Given the description of an element on the screen output the (x, y) to click on. 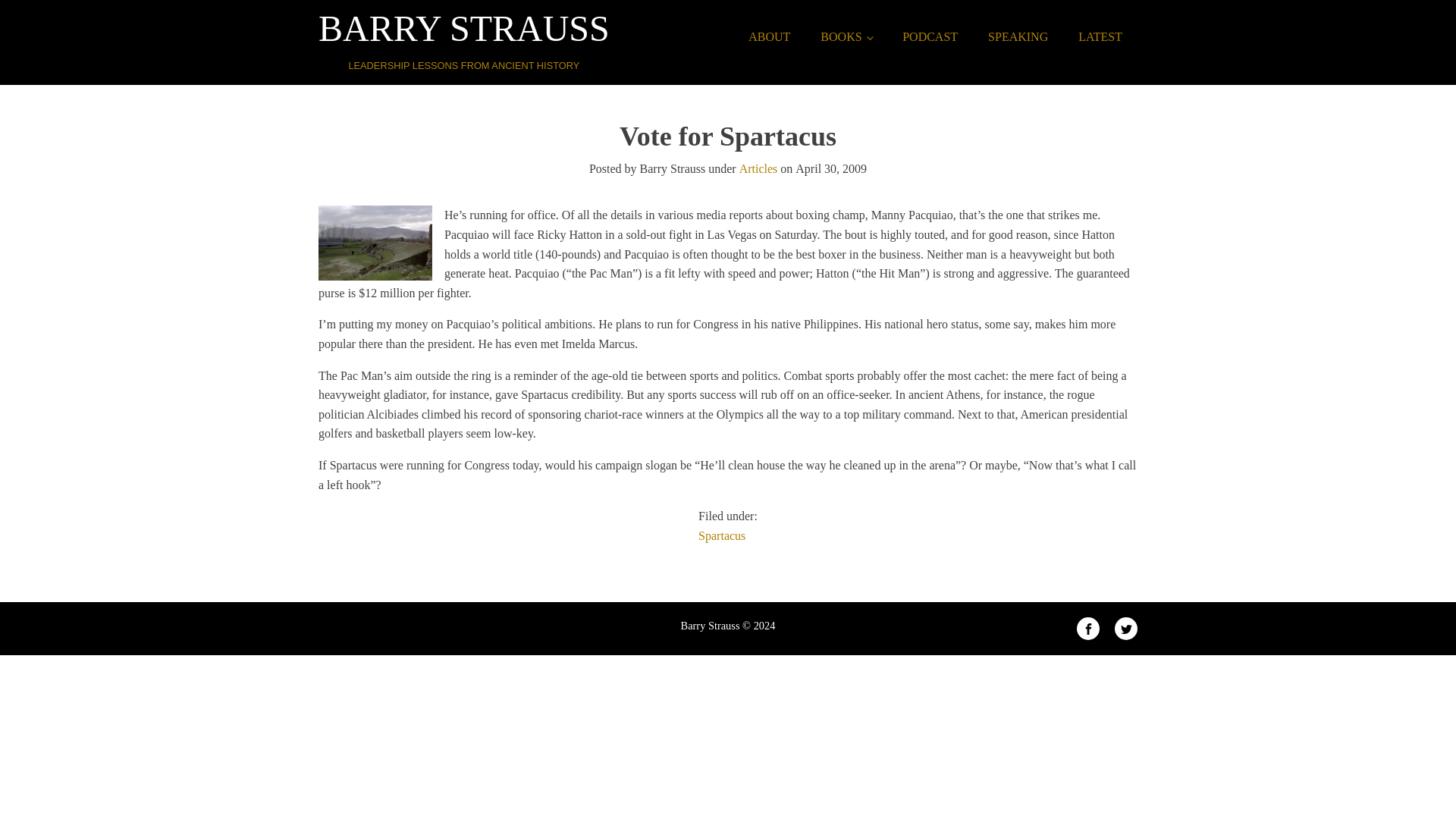
Articles (758, 168)
Spartacus (721, 535)
Vote for Spartacus (375, 242)
BOOKS (845, 37)
SPEAKING (1017, 37)
LATEST (1099, 37)
ABOUT (769, 37)
PODCAST (929, 37)
